Given the description of an element on the screen output the (x, y) to click on. 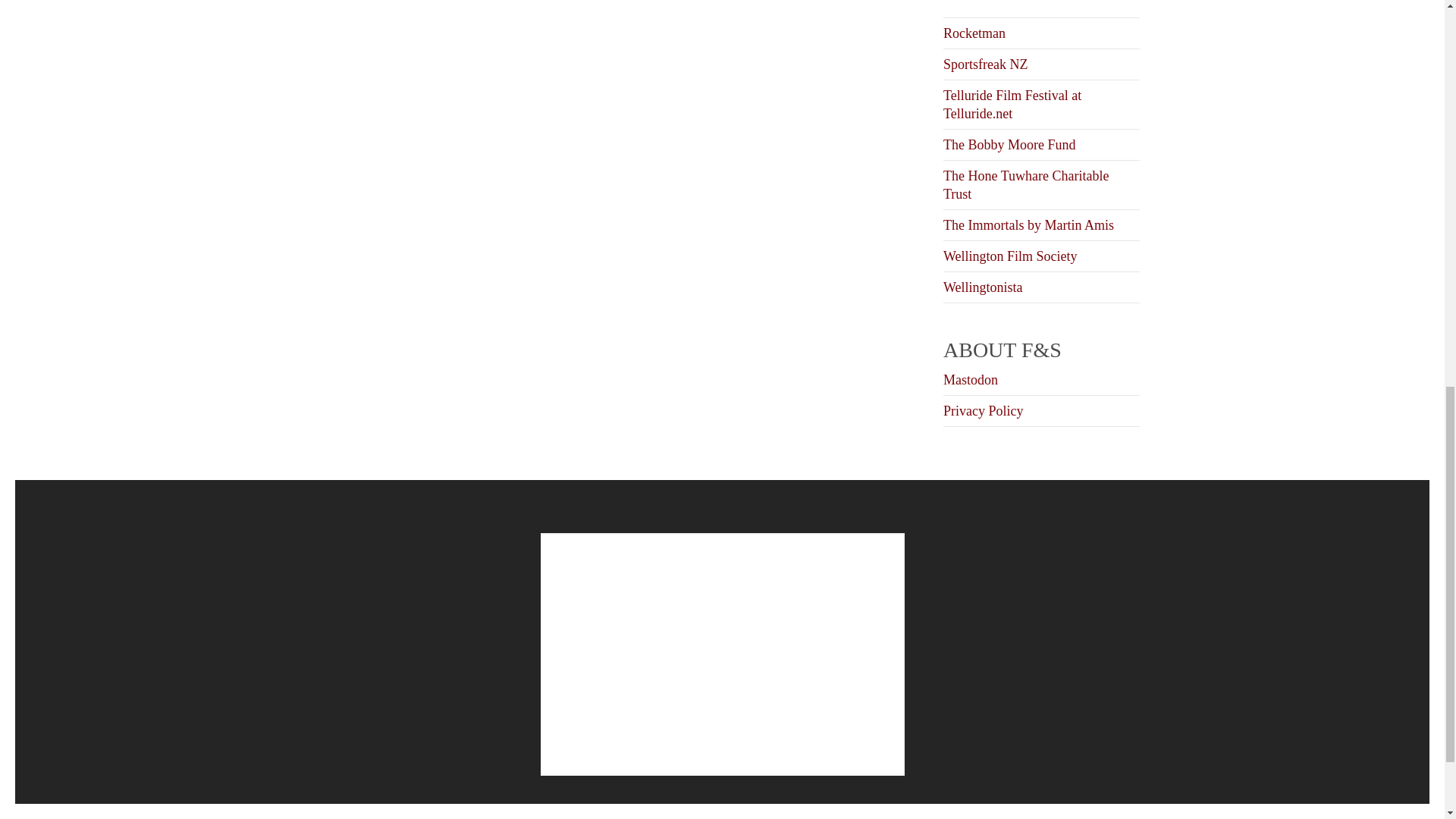
Playwright Gary Henderson (974, 32)
Telluride Film Festival at Telluride.net (1012, 104)
The Hone Tuwhare Charitable Trust (1025, 184)
Migrating to Mastodon... (970, 379)
Robyn Gallagher (989, 4)
The Immortals by Martin Amis (1028, 224)
Rocketman (974, 32)
My 2010 Fringe show (1028, 224)
The Bobby Moore Fund (1009, 144)
Robyn from the Internet (989, 4)
Sportsfreak NZ (985, 64)
